Given the description of an element on the screen output the (x, y) to click on. 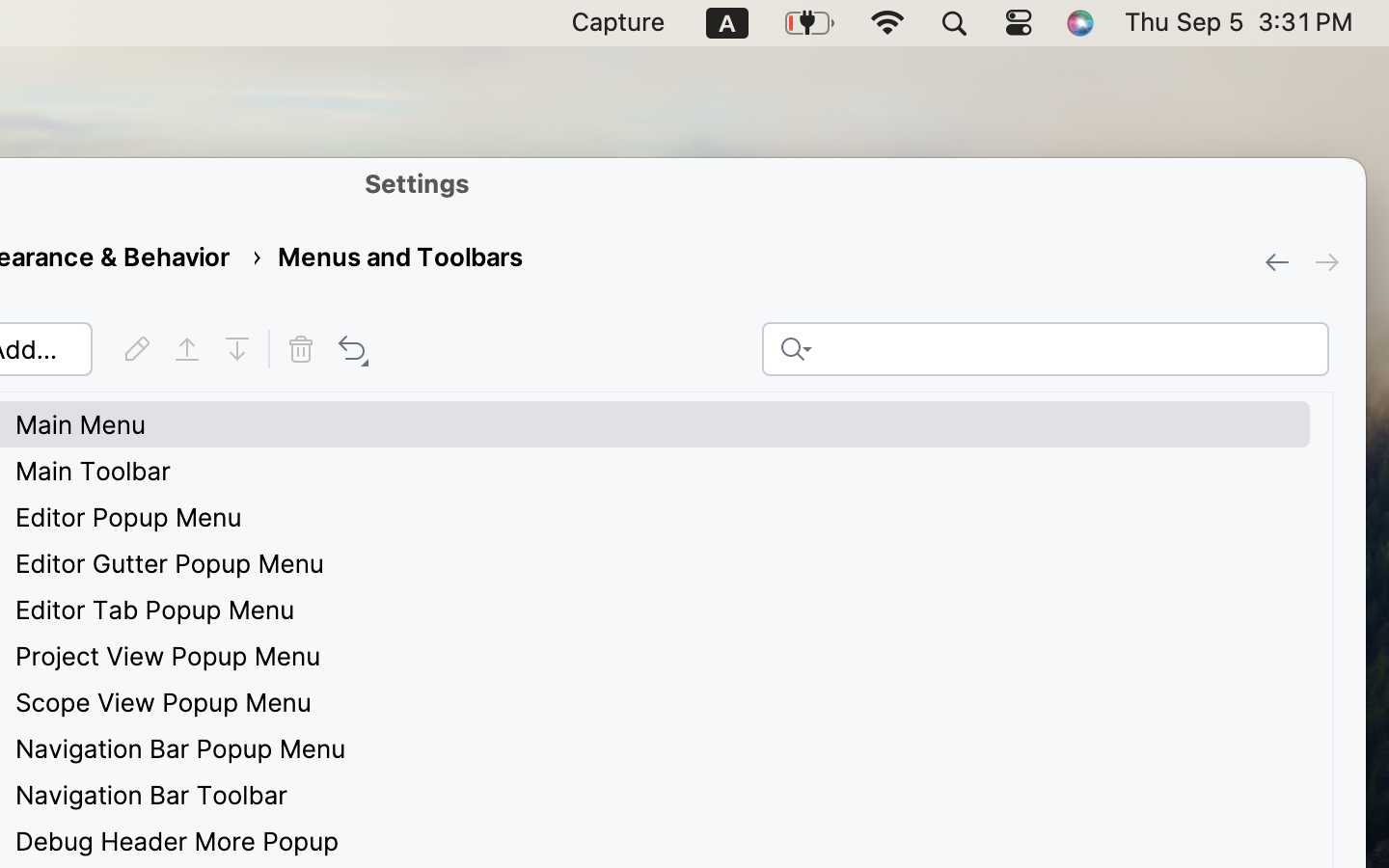
Settings Element type: AXStaticText (417, 182)
